Given the description of an element on the screen output the (x, y) to click on. 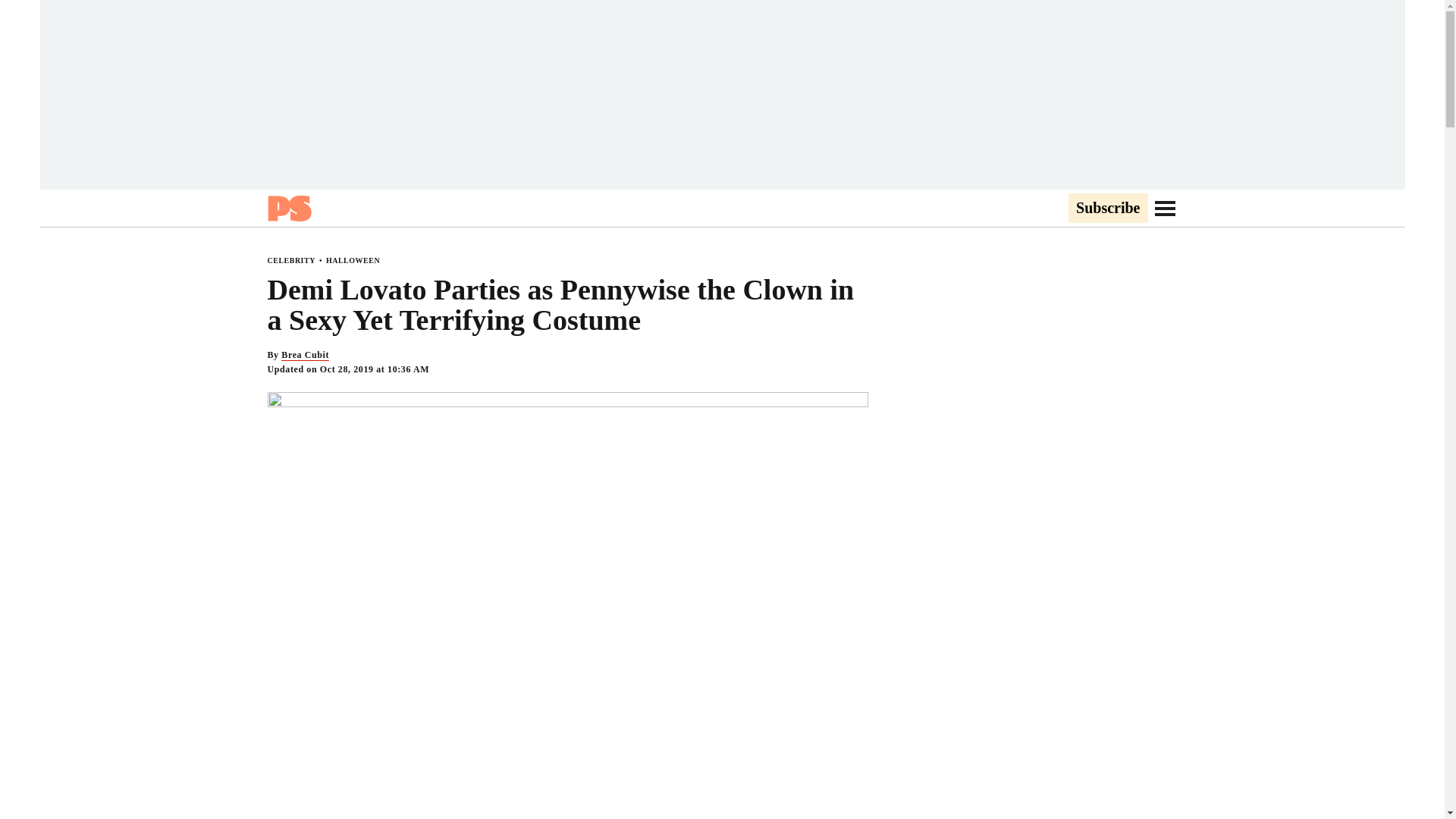
Subscribe (1107, 208)
CELEBRITY (290, 260)
Brea Cubit (305, 355)
Popsugar (288, 208)
Go to Navigation (1164, 207)
Go to Navigation (1164, 207)
HALLOWEEN (353, 260)
